Given the description of an element on the screen output the (x, y) to click on. 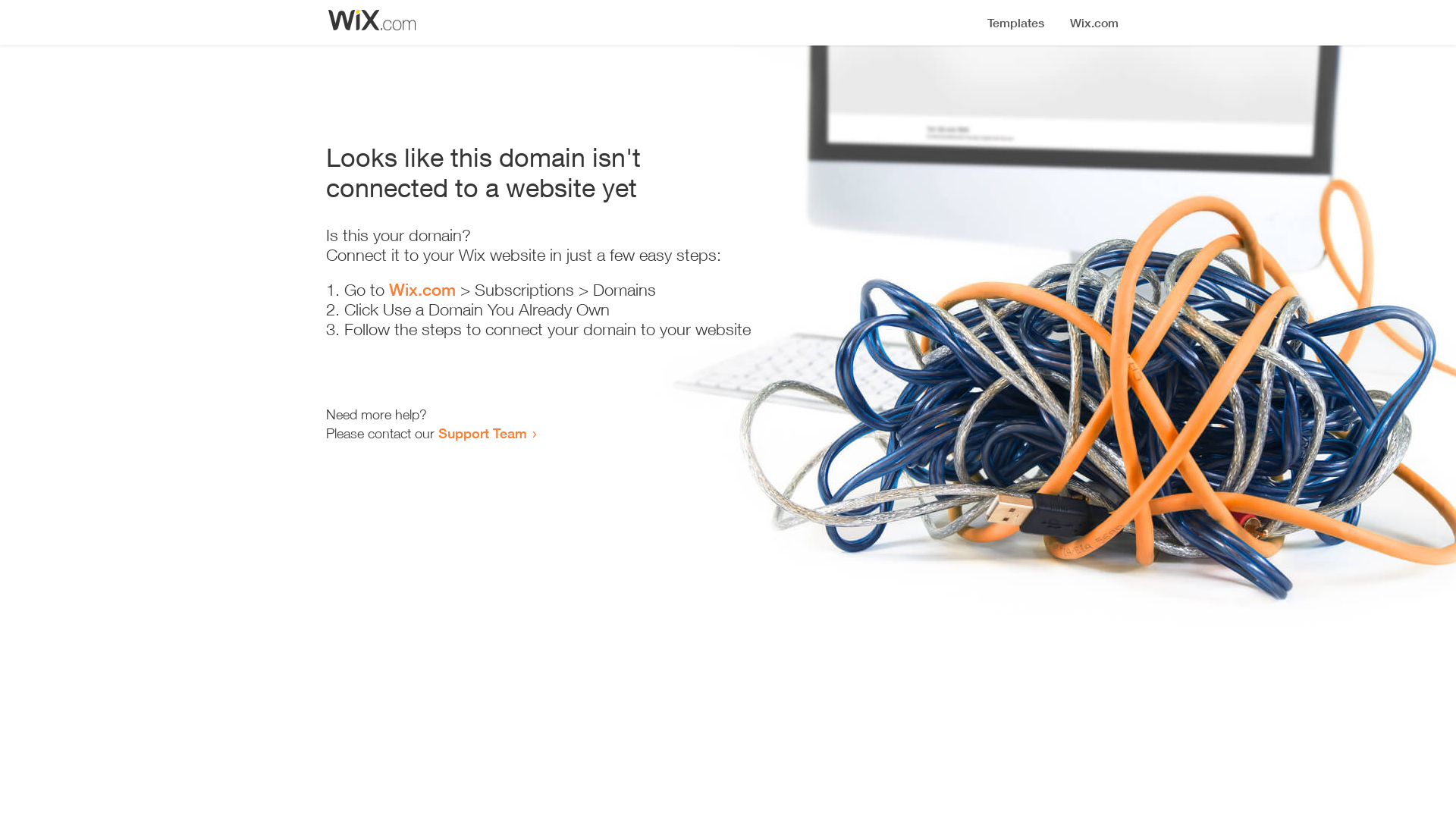
Wix.com Element type: text (422, 289)
Support Team Element type: text (482, 432)
